Given the description of an element on the screen output the (x, y) to click on. 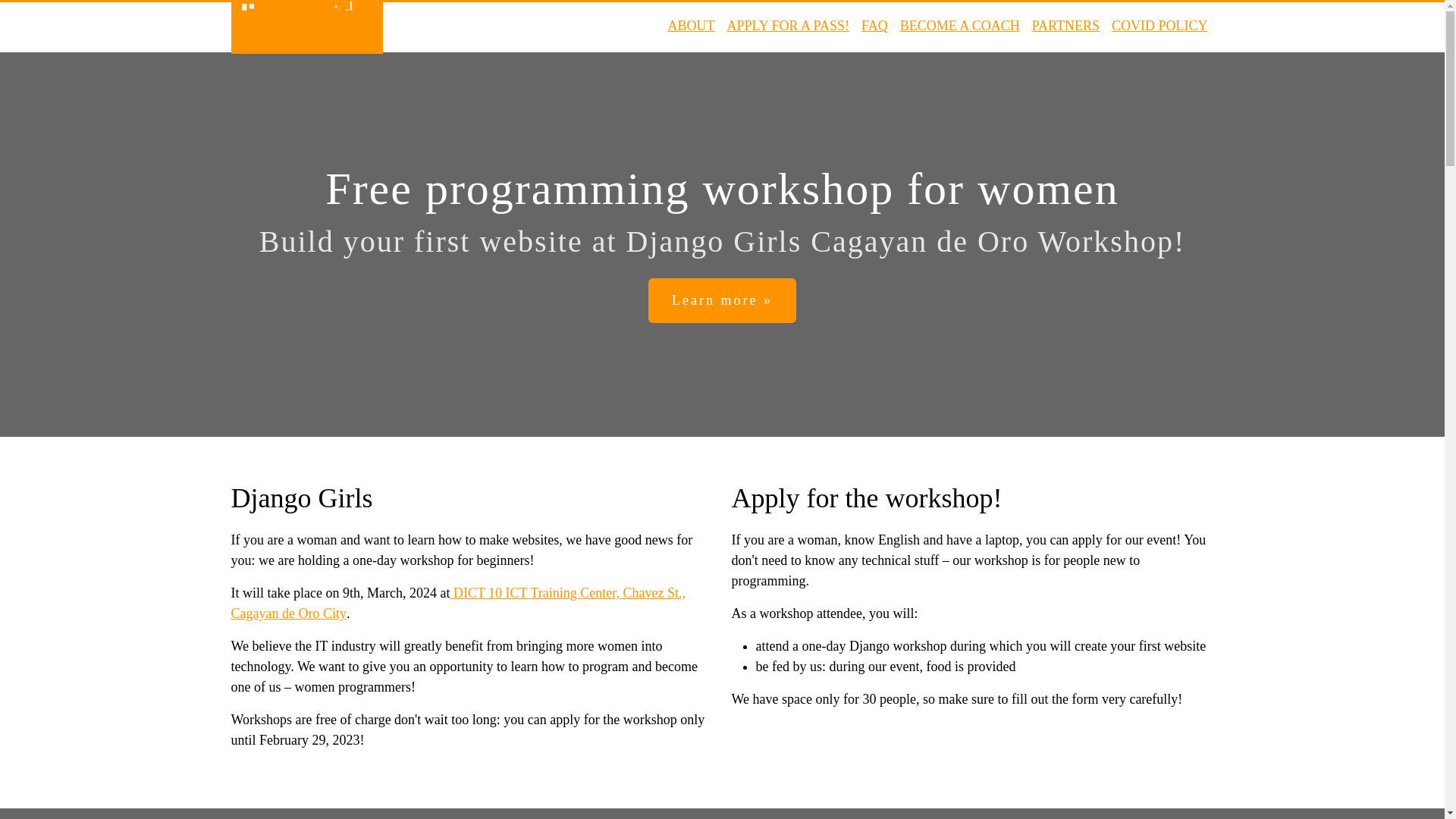
DICT 10 ICT Training Center, Chavez St., Cagayan de Oro City (457, 602)
FAQ (874, 25)
BECOME A COACH (959, 25)
PARTNERS (1065, 25)
APPLY FOR A PASS! (787, 25)
COVID POLICY (1160, 25)
ABOUT (691, 25)
